Given the description of an element on the screen output the (x, y) to click on. 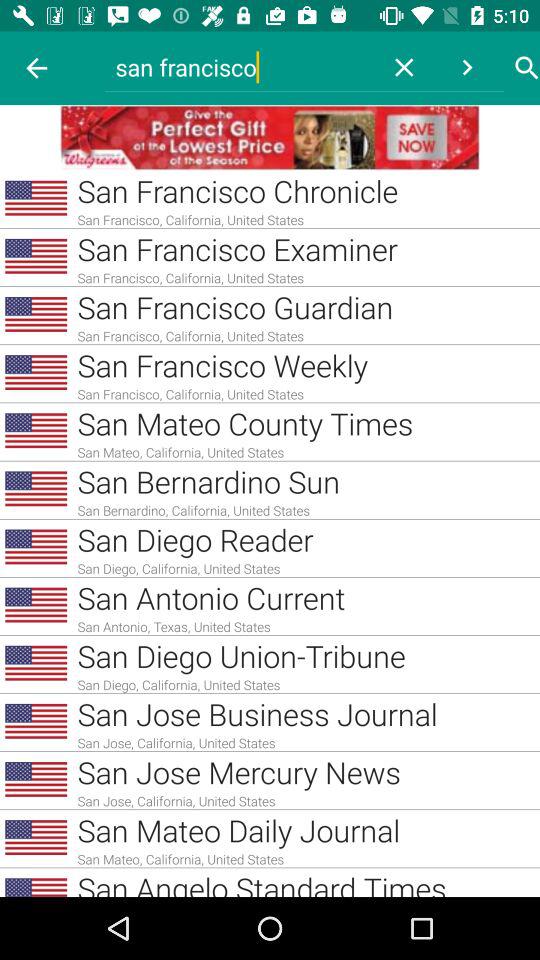
search (527, 67)
